Given the description of an element on the screen output the (x, y) to click on. 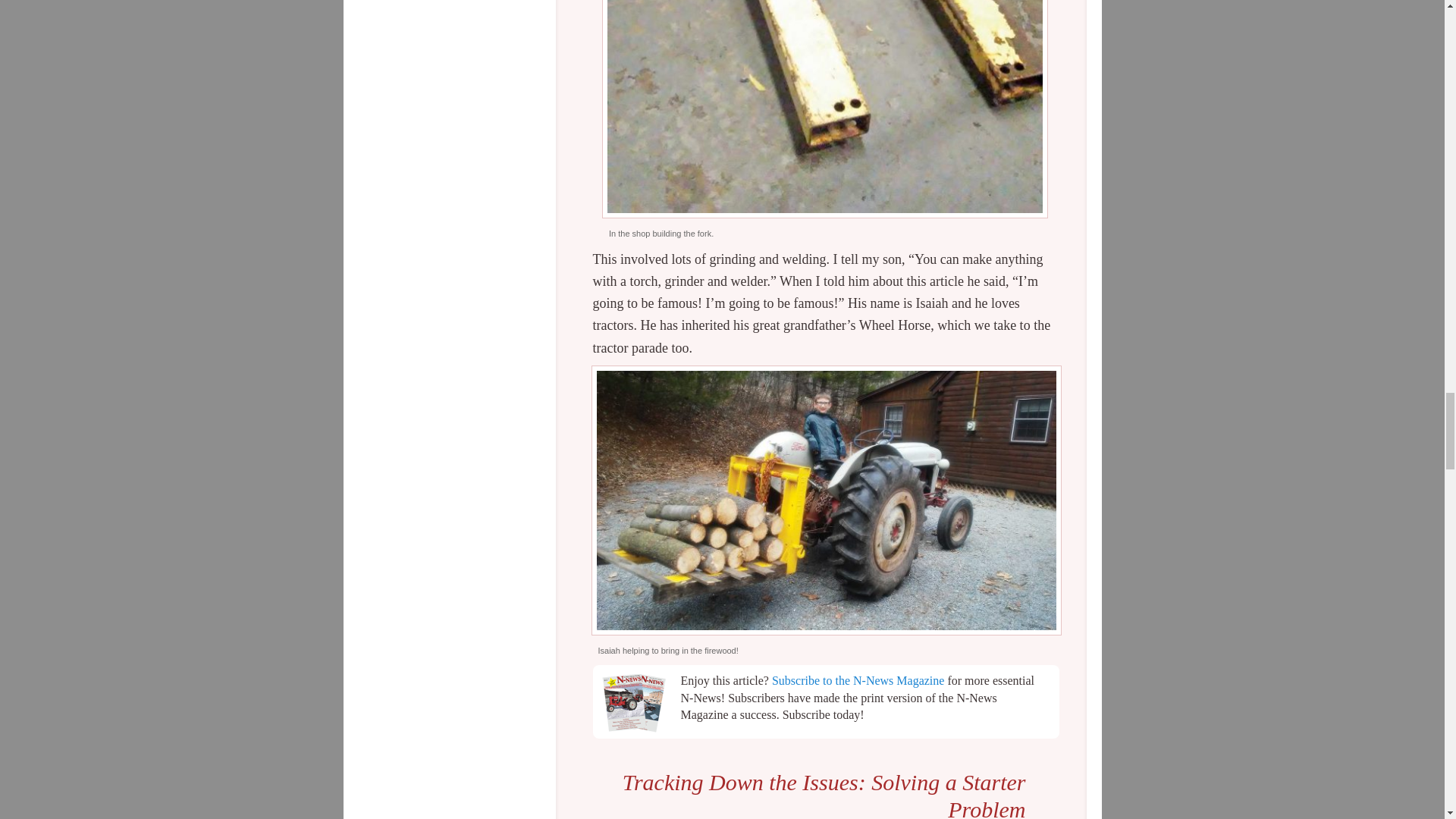
Tracking Down the Issues: Solving a Starter Problem (824, 794)
Subscribe to the N-News Magazine (857, 680)
